Given the description of an element on the screen output the (x, y) to click on. 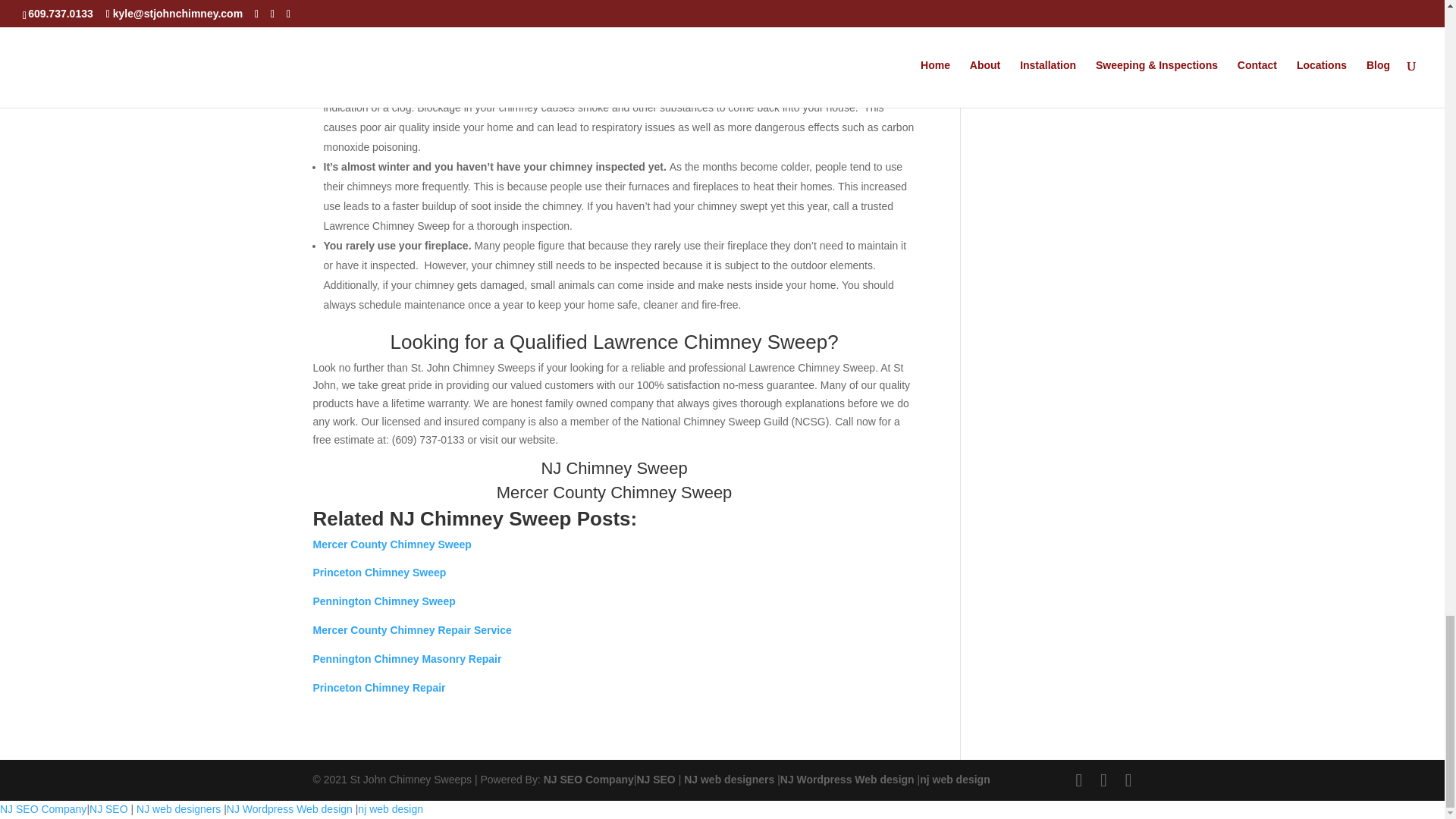
Mercer County Chimney Sweep (614, 492)
NJ Chimney Sweep (613, 467)
Pennington Chimney Sweep (383, 601)
Princeton Chimney Sweep (379, 572)
Mercer County Chimney Sweep (391, 544)
Pennington Chimney Masonry Repair (406, 658)
Princeton Chimney Repair (379, 687)
Mercer County Chimney Repair Service (412, 630)
